Given the description of an element on the screen output the (x, y) to click on. 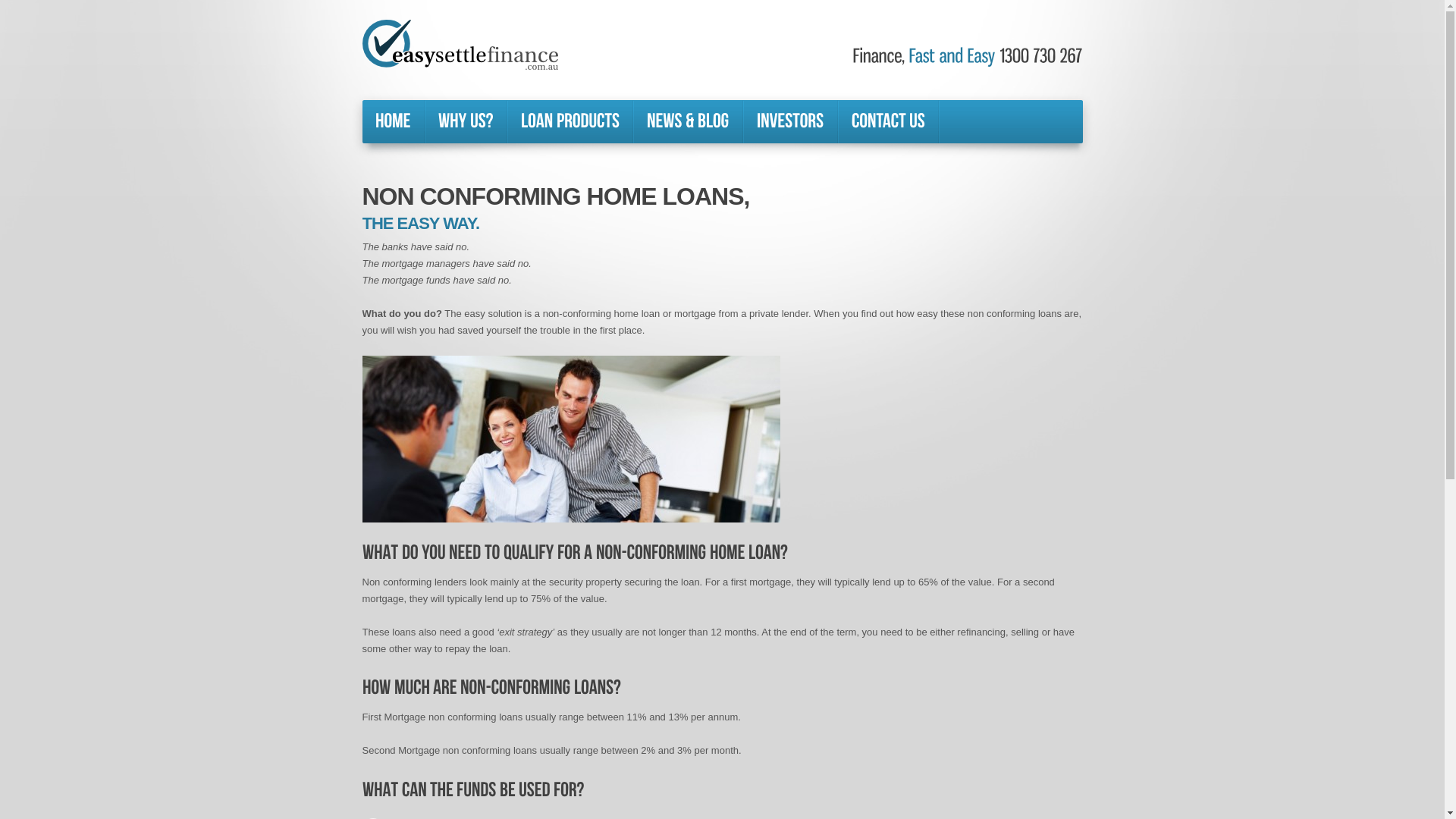
Private loans, finance and investment made easy Element type: hover (460, 44)
Non-conforming loans Element type: hover (571, 438)
